Given the description of an element on the screen output the (x, y) to click on. 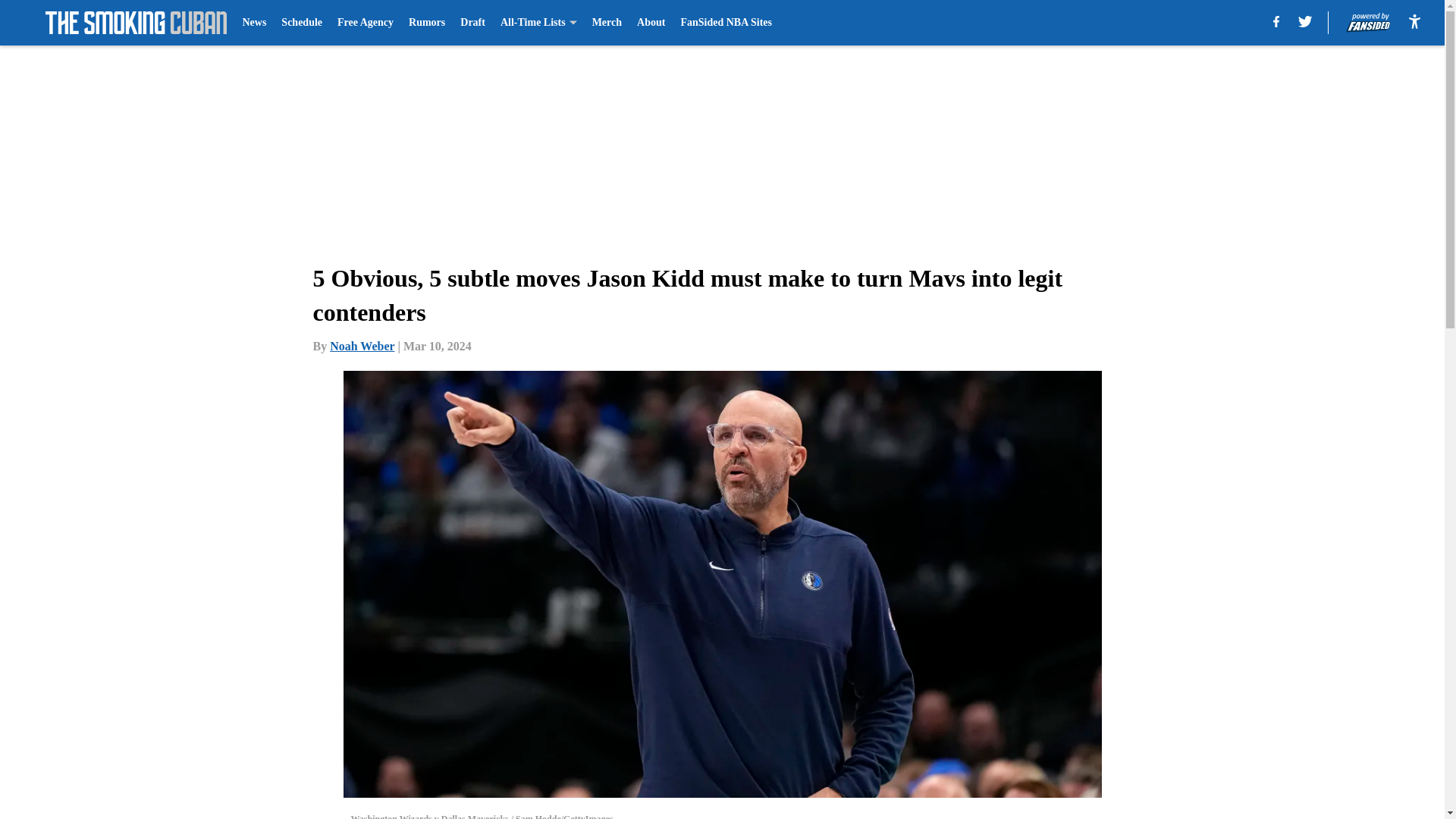
Schedule (301, 22)
FanSided NBA Sites (725, 22)
Draft (472, 22)
About (651, 22)
Merch (606, 22)
Noah Weber (362, 345)
Free Agency (365, 22)
All-Time Lists (538, 22)
Rumors (427, 22)
